Given the description of an element on the screen output the (x, y) to click on. 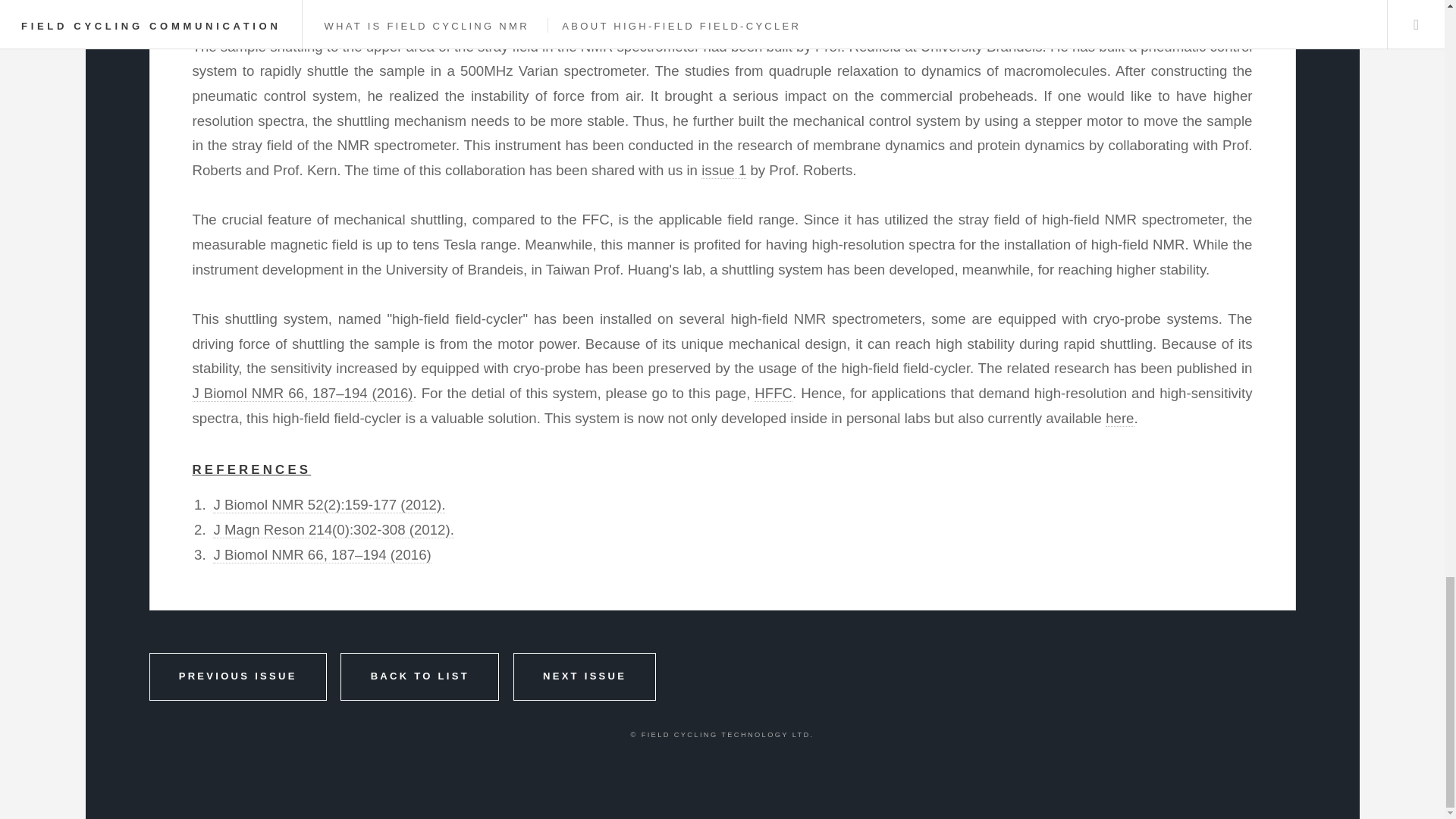
PREVIOUS ISSUE (237, 676)
BACK TO LIST (419, 676)
here (1119, 418)
HFFC (773, 393)
issue 1 (723, 170)
NEXT ISSUE (584, 676)
